Given the description of an element on the screen output the (x, y) to click on. 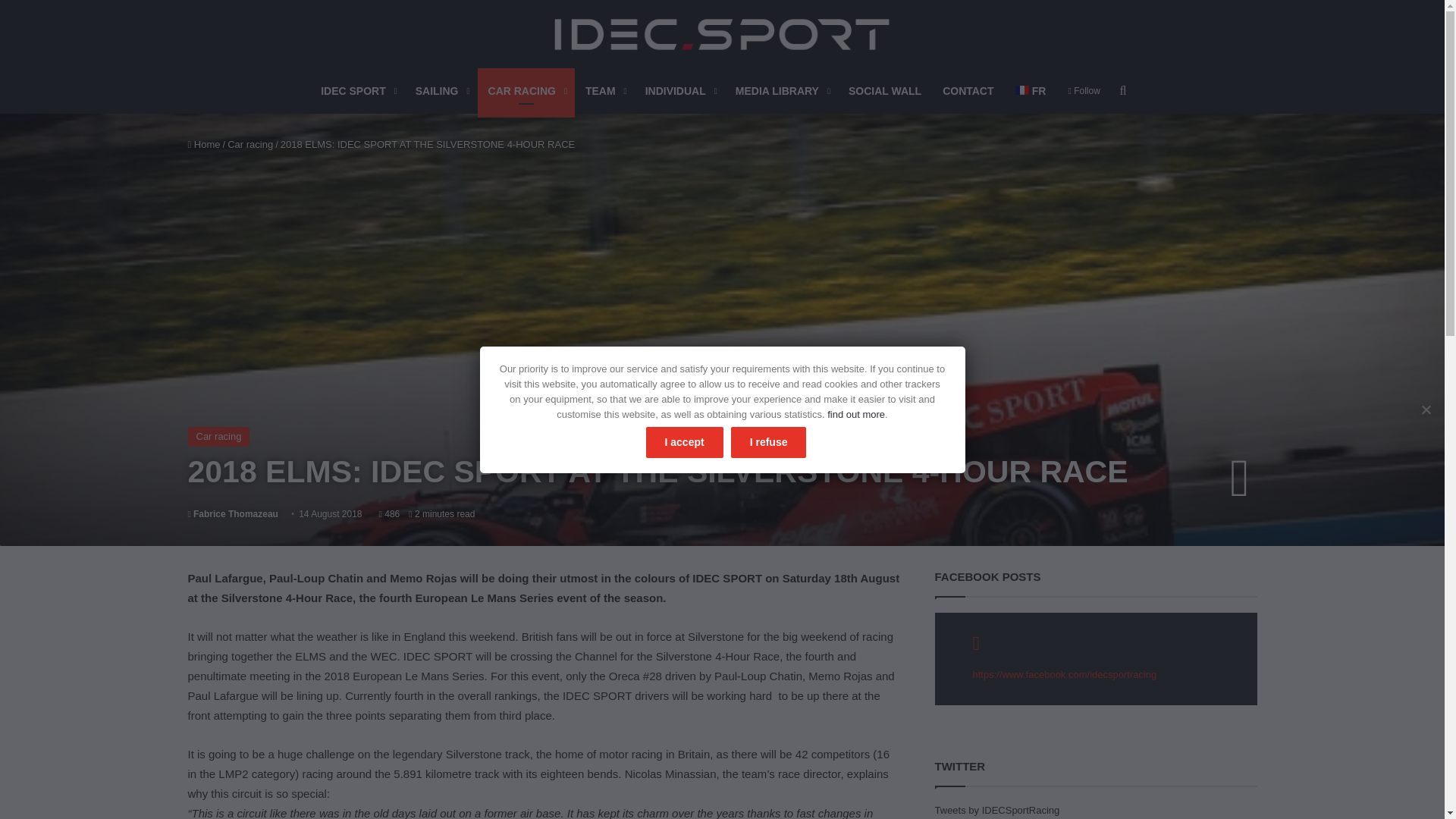
IDEC SPORT (357, 90)
IDEC SPORT (722, 33)
SAILING (440, 90)
INDIVIDUAL (679, 90)
MEDIA LIBRARY (781, 90)
Fabrice Thomazeau (232, 513)
CAR RACING (526, 90)
FR (1030, 90)
TEAM (604, 90)
